Given the description of an element on the screen output the (x, y) to click on. 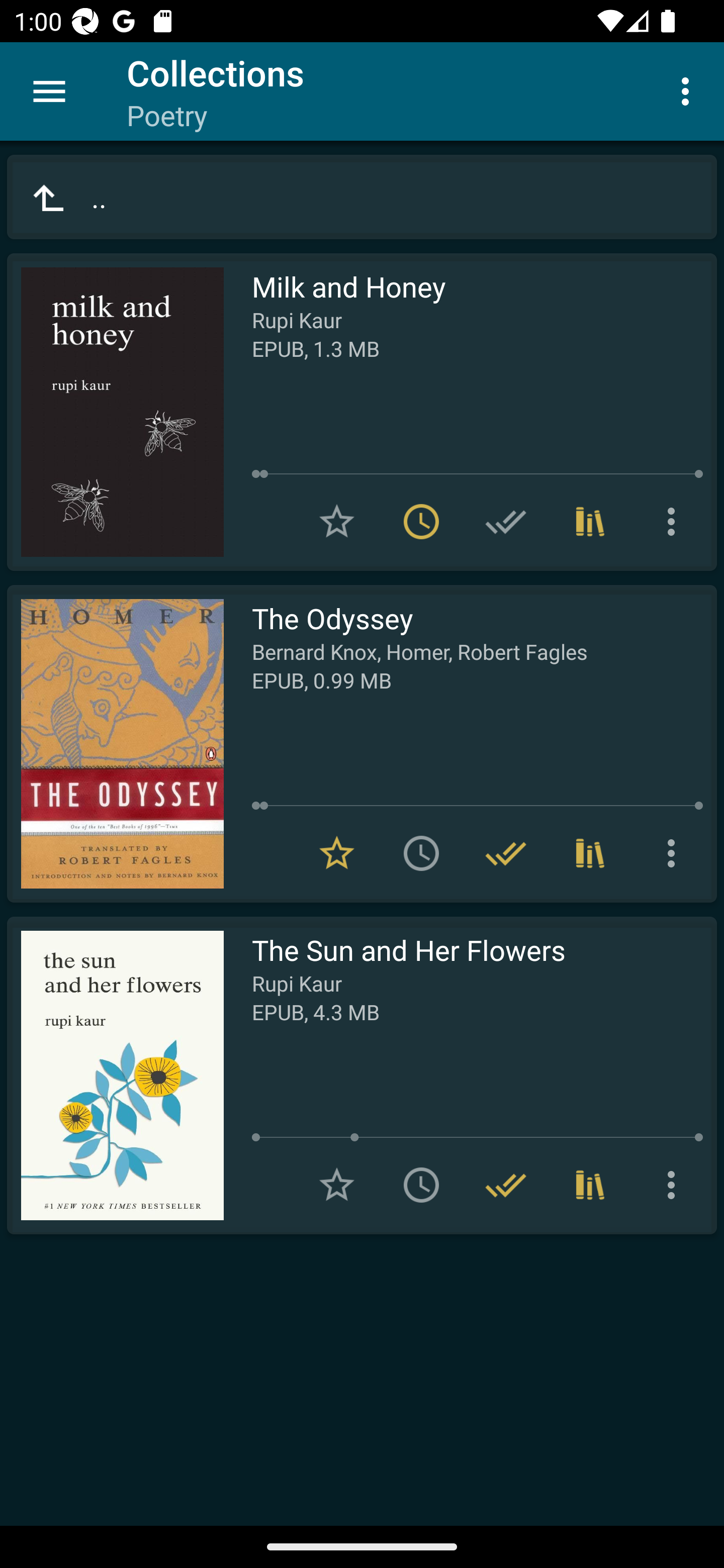
Menu (49, 91)
More options (688, 90)
.. (361, 197)
Read Milk and Honey (115, 412)
Add to Favorites (336, 521)
Remove from To read (421, 521)
Add to Have read (505, 521)
Collections (3) (590, 521)
More options (674, 521)
Read The Odyssey (115, 743)
Remove from Favorites (336, 852)
Add to To read (421, 852)
Remove from Have read (505, 852)
Collections (3) (590, 852)
More options (674, 852)
Read The Sun and Her Flowers (115, 1075)
Add to Favorites (336, 1185)
Add to To read (421, 1185)
Remove from Have read (505, 1185)
Collections (1) (590, 1185)
More options (674, 1185)
